Given the description of an element on the screen output the (x, y) to click on. 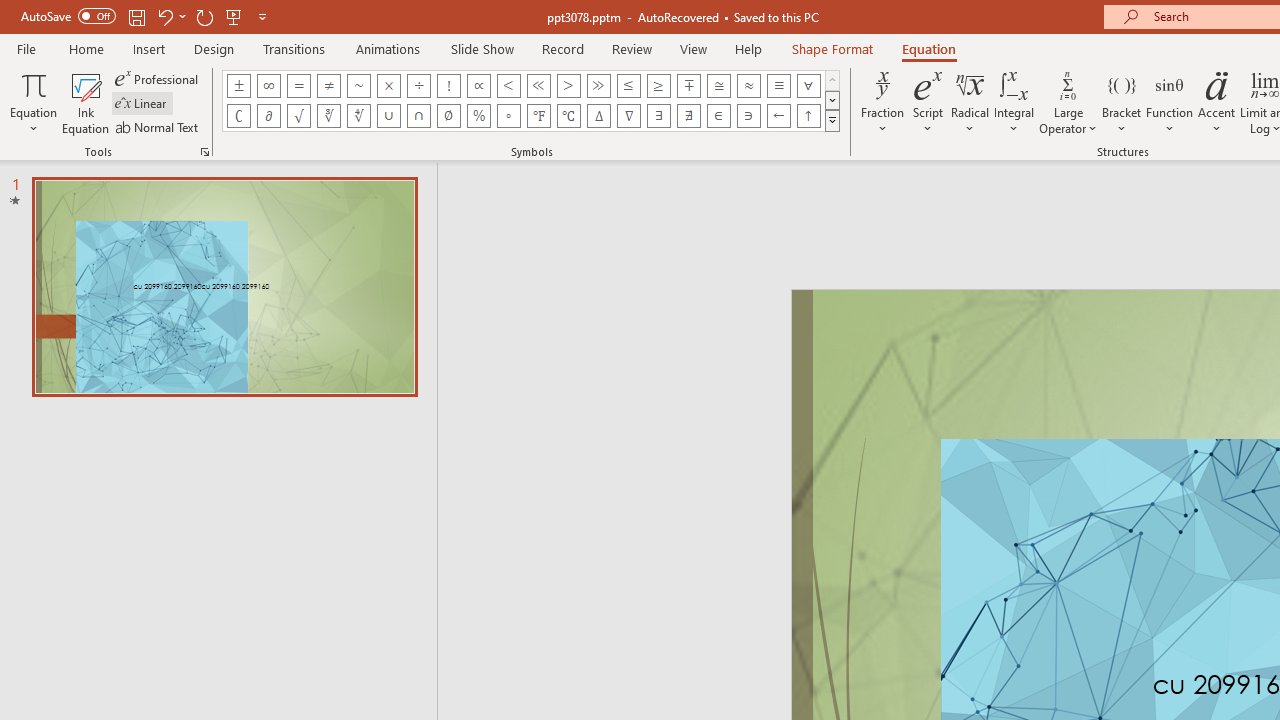
Accent (1216, 102)
Equation Symbol Intersection (418, 115)
Equation Symbol Factorial (448, 85)
Equation Symbol Up Arrow (808, 115)
Ink Equation (86, 102)
Equation Symbol Fourth Root (358, 115)
